Given the description of an element on the screen output the (x, y) to click on. 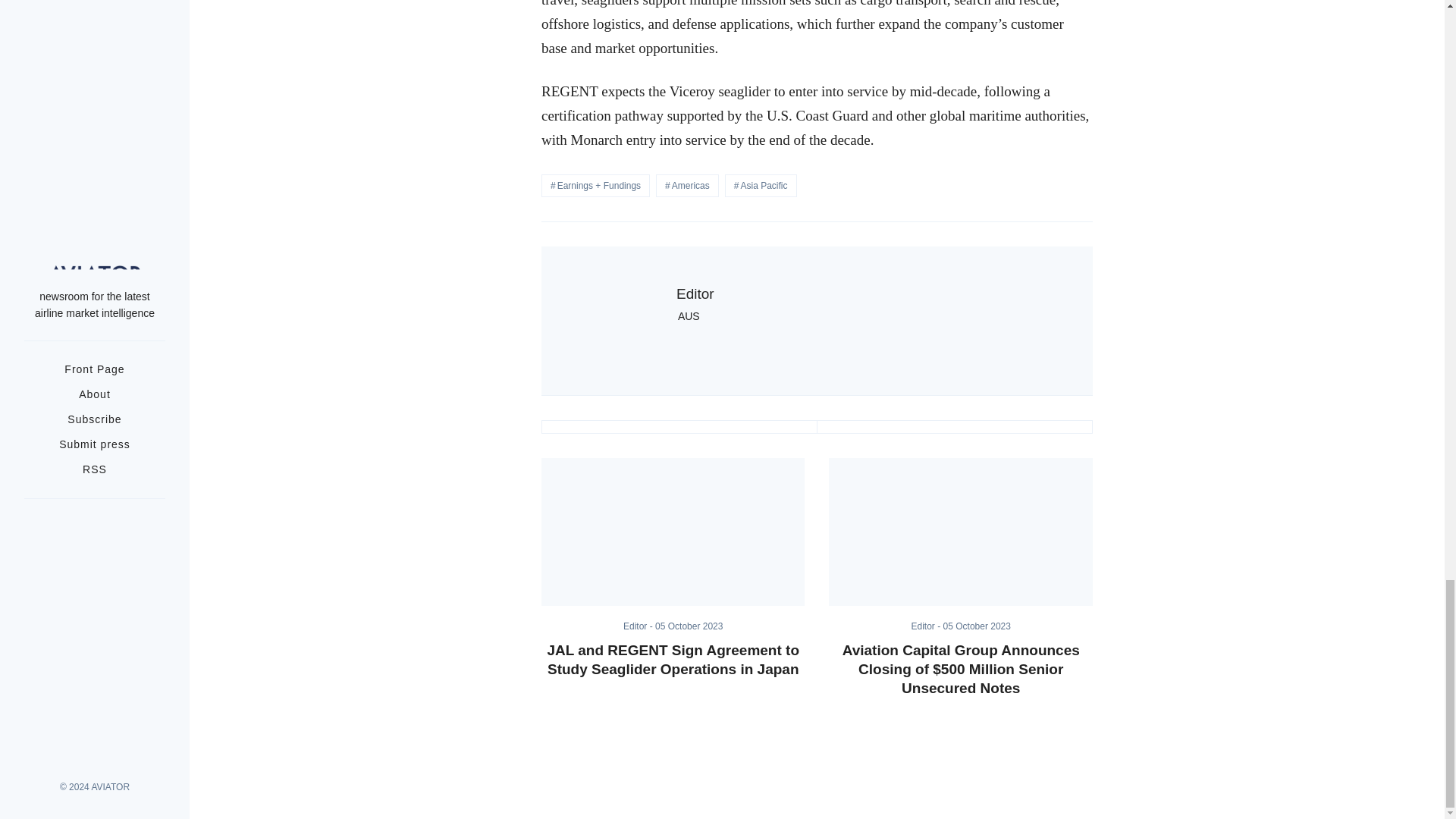
Asia Pacific (760, 185)
Editor (639, 625)
Editor (695, 293)
Editor (927, 625)
Share on Facebook (954, 426)
Editor - (639, 625)
Editor - (927, 625)
Americas (687, 185)
Share on Twitter (678, 426)
